Given the description of an element on the screen output the (x, y) to click on. 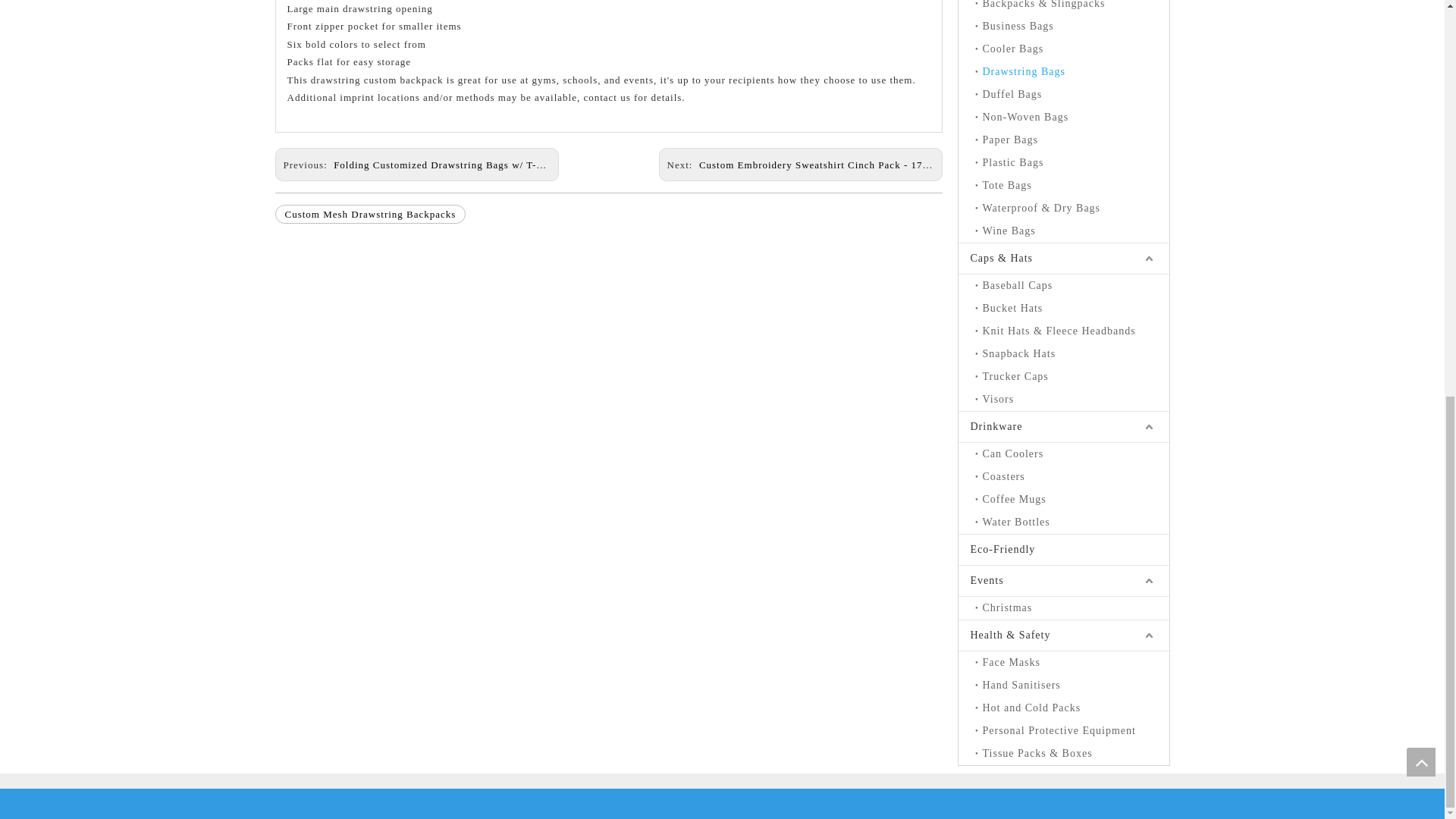
Custom Mesh Drawstring Backpacks (370, 213)
Custom Embroidery Sweatshirt Cinch Pack - 17.75" H x 14.5" W (849, 164)
